Given the description of an element on the screen output the (x, y) to click on. 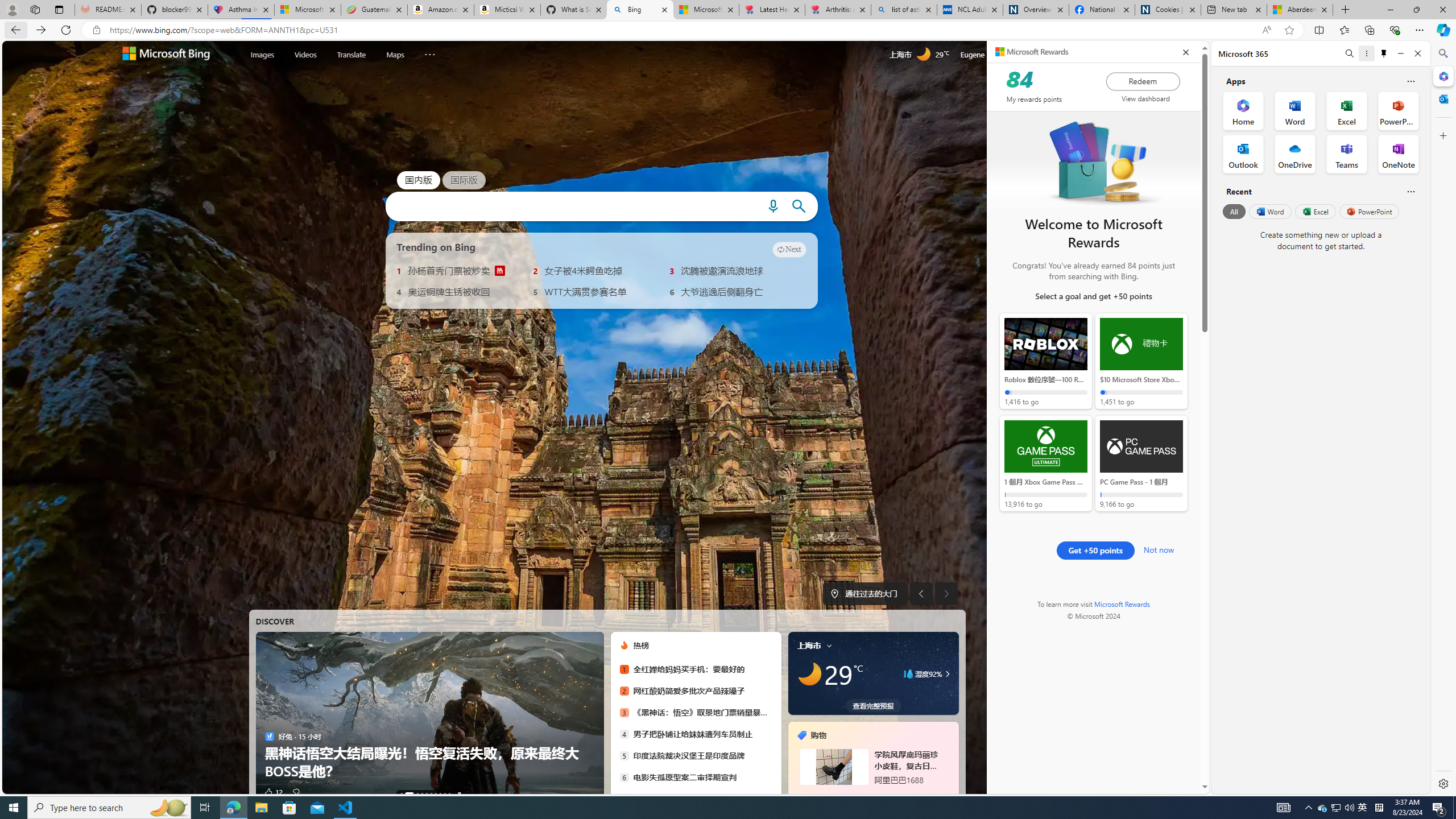
tab-3 (859, 795)
Microsoft Rewards 84 (1033, 54)
Class: weather-arrow-glyph (946, 673)
tab-7 (887, 795)
More (429, 51)
